Given the description of an element on the screen output the (x, y) to click on. 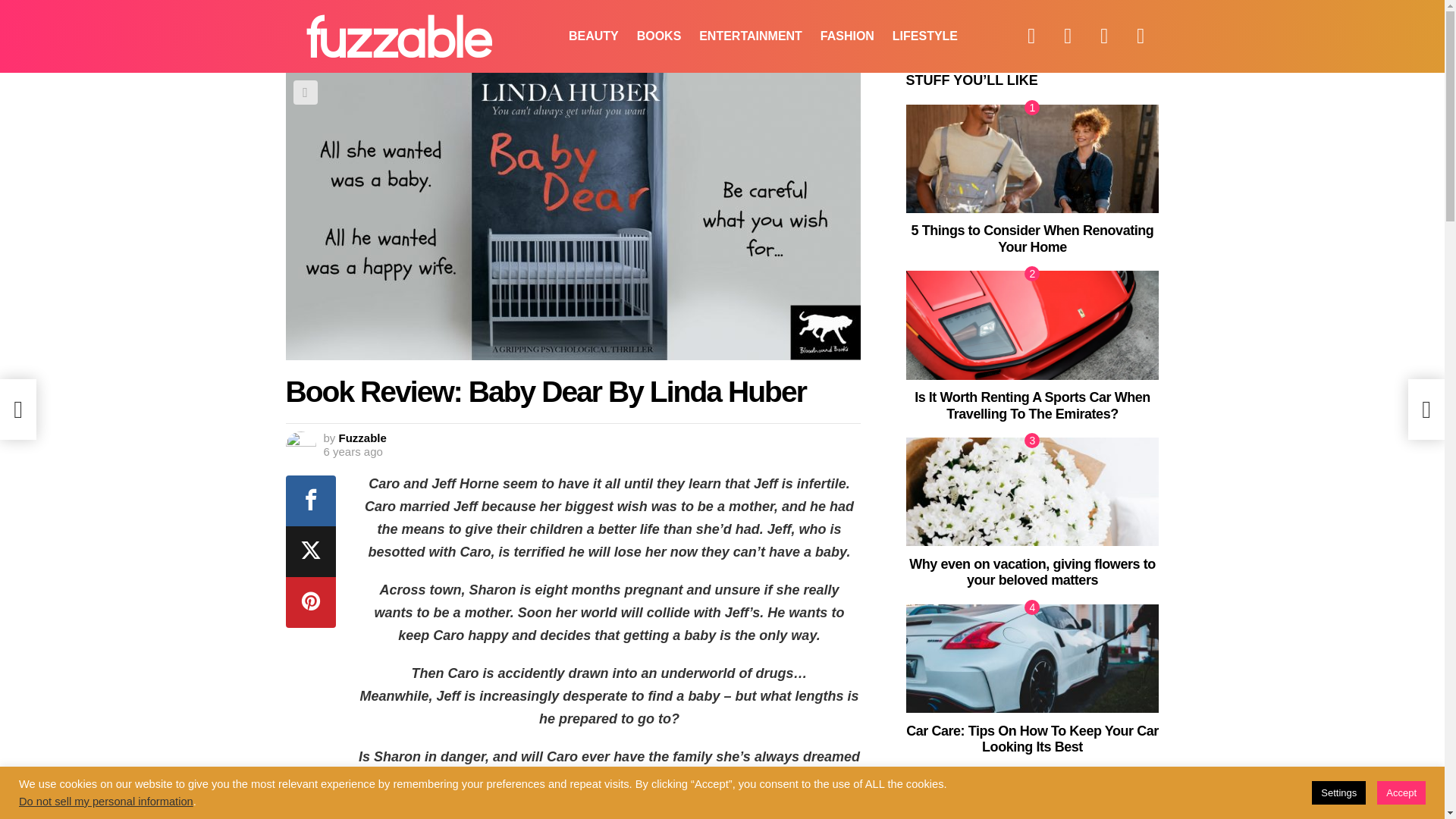
facebook (1031, 36)
Fuzzable (363, 437)
instagram (1104, 36)
Car Care: Tips On How To Keep Your Car Looking Its Best (1031, 658)
LIFESTYLE (925, 36)
Share (304, 92)
FASHION (847, 36)
5 Things to Consider When Renovating Your Home (1031, 158)
pinterest (1140, 36)
twitter (1067, 36)
February 8, 2018, 11:23 am (352, 451)
BEAUTY (593, 36)
BOOKS (658, 36)
Posts by Fuzzable (363, 437)
